Given the description of an element on the screen output the (x, y) to click on. 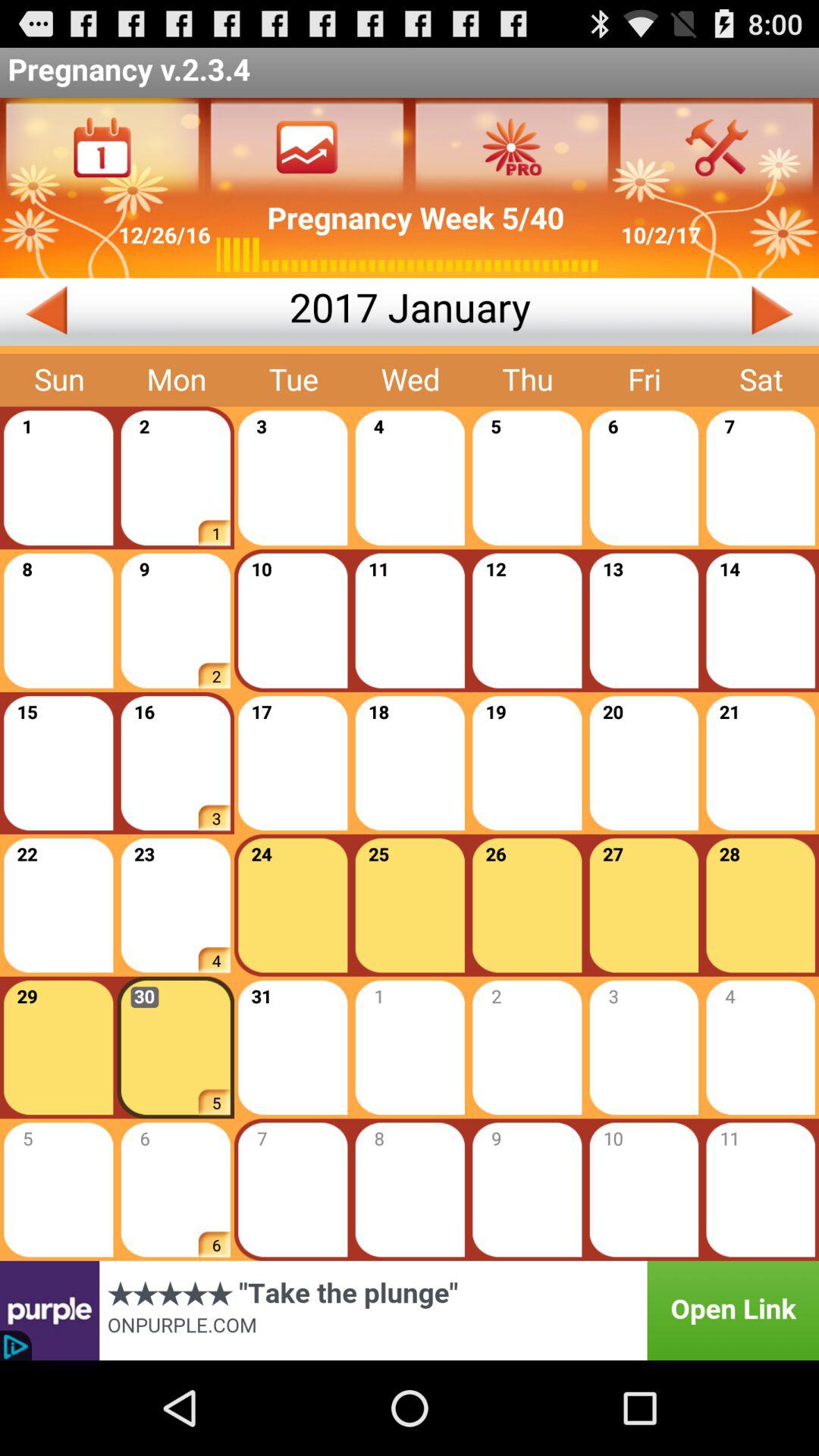
go to previous month (144, 311)
